Given the description of an element on the screen output the (x, y) to click on. 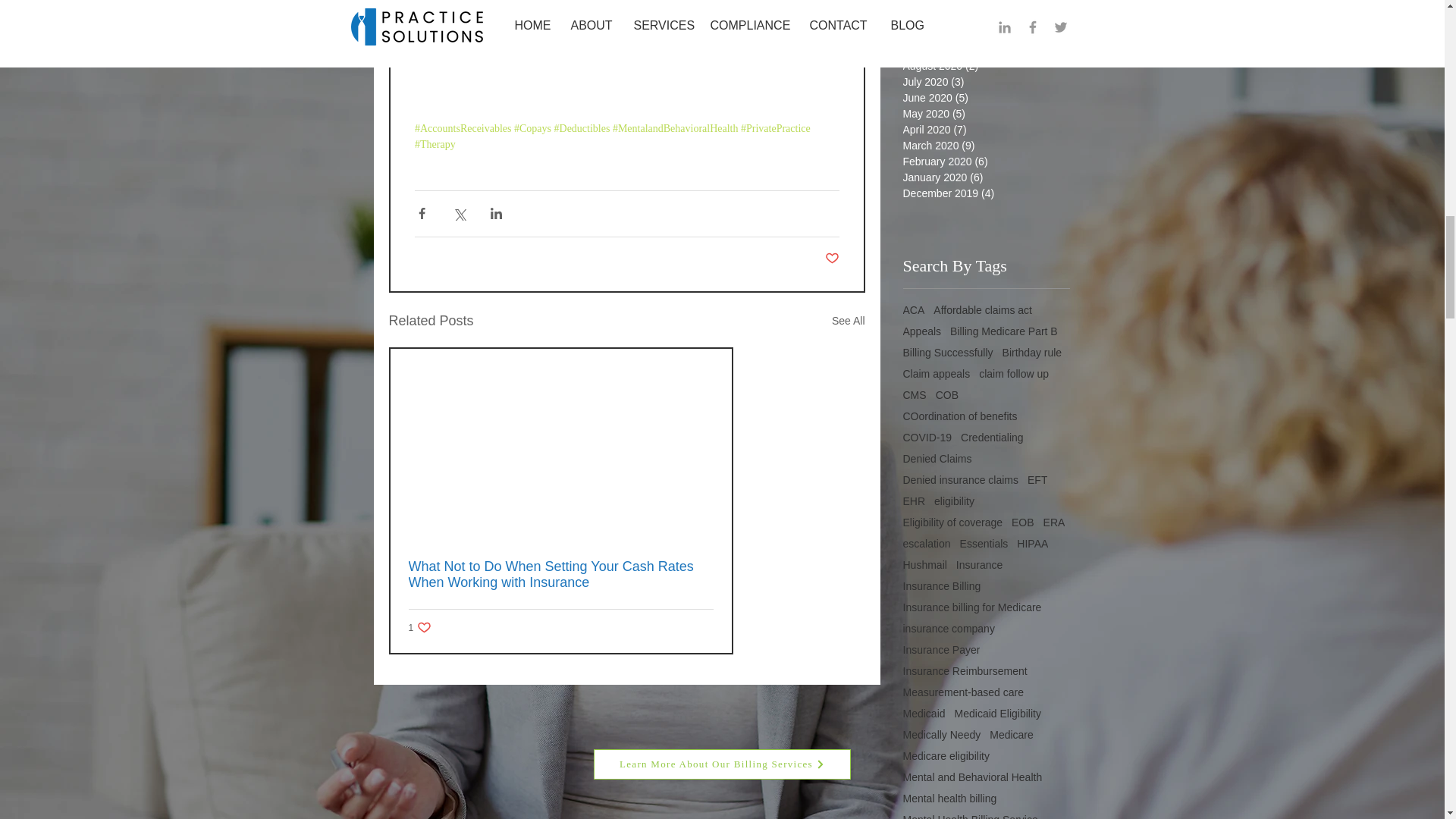
See All (847, 321)
Post not marked as liked (418, 626)
